Given the description of an element on the screen output the (x, y) to click on. 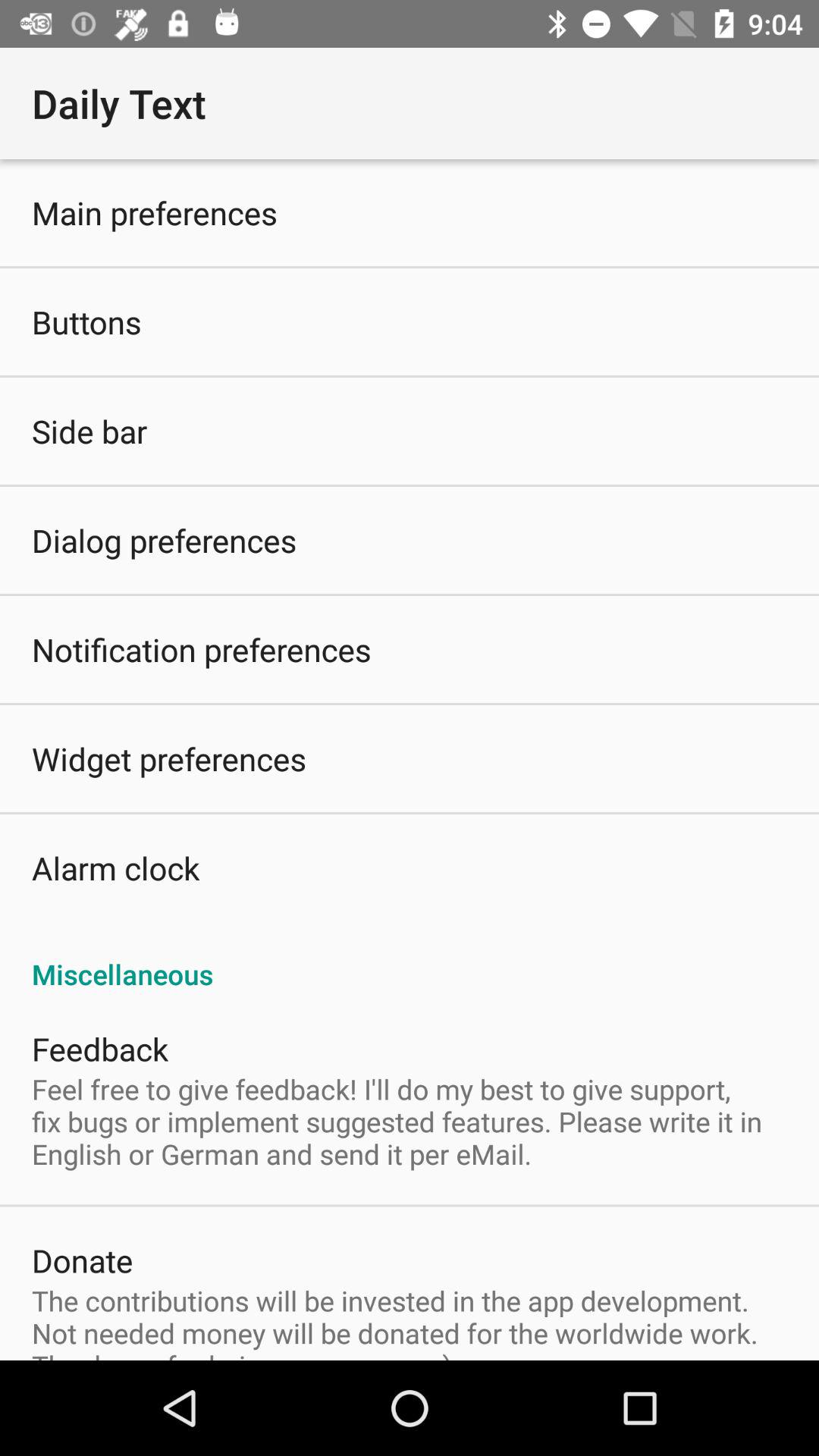
tap item below daily text (154, 212)
